Given the description of an element on the screen output the (x, y) to click on. 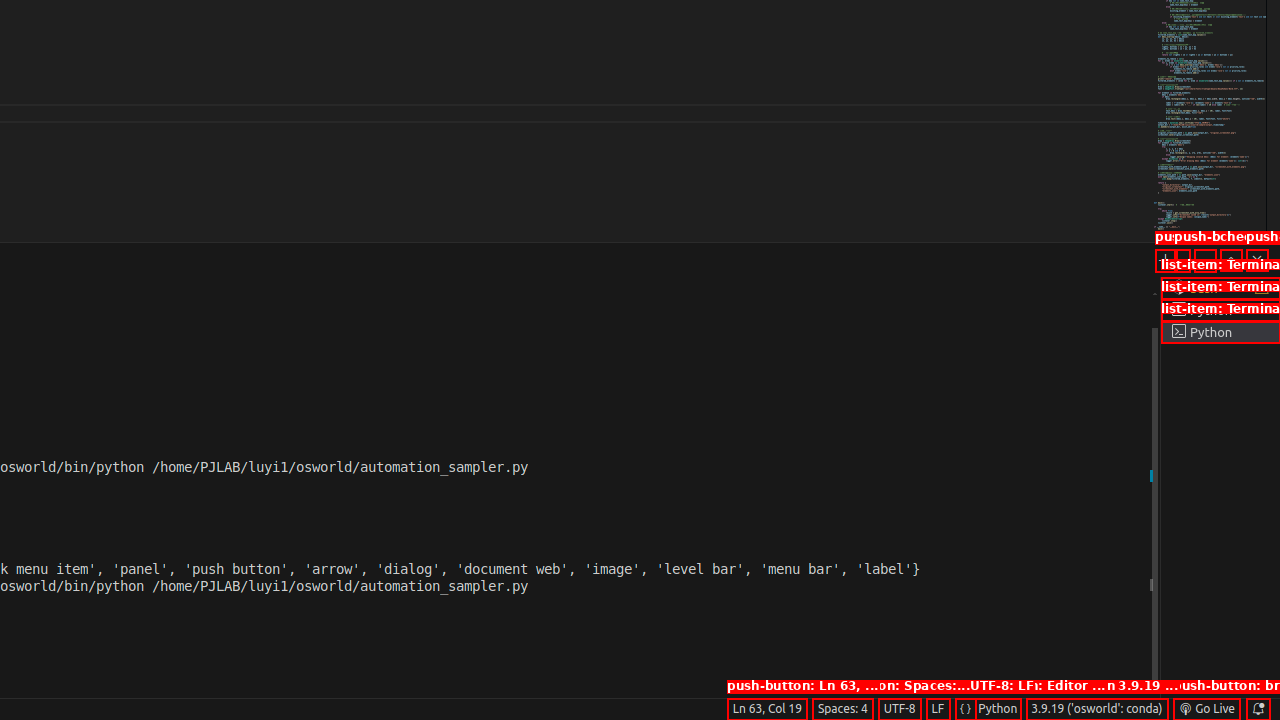
3.9.19 ('osworld': conda), ~/anaconda3/envs/osworld/bin/python Element type: push-button (1097, 709)
Maximize Panel Size Element type: check-box (1231, 260)
Terminal 2 Python Element type: list-item (1220, 310)
UTF-8 Element type: push-button (899, 709)
Python Element type: push-button (998, 709)
